Given the description of an element on the screen output the (x, y) to click on. 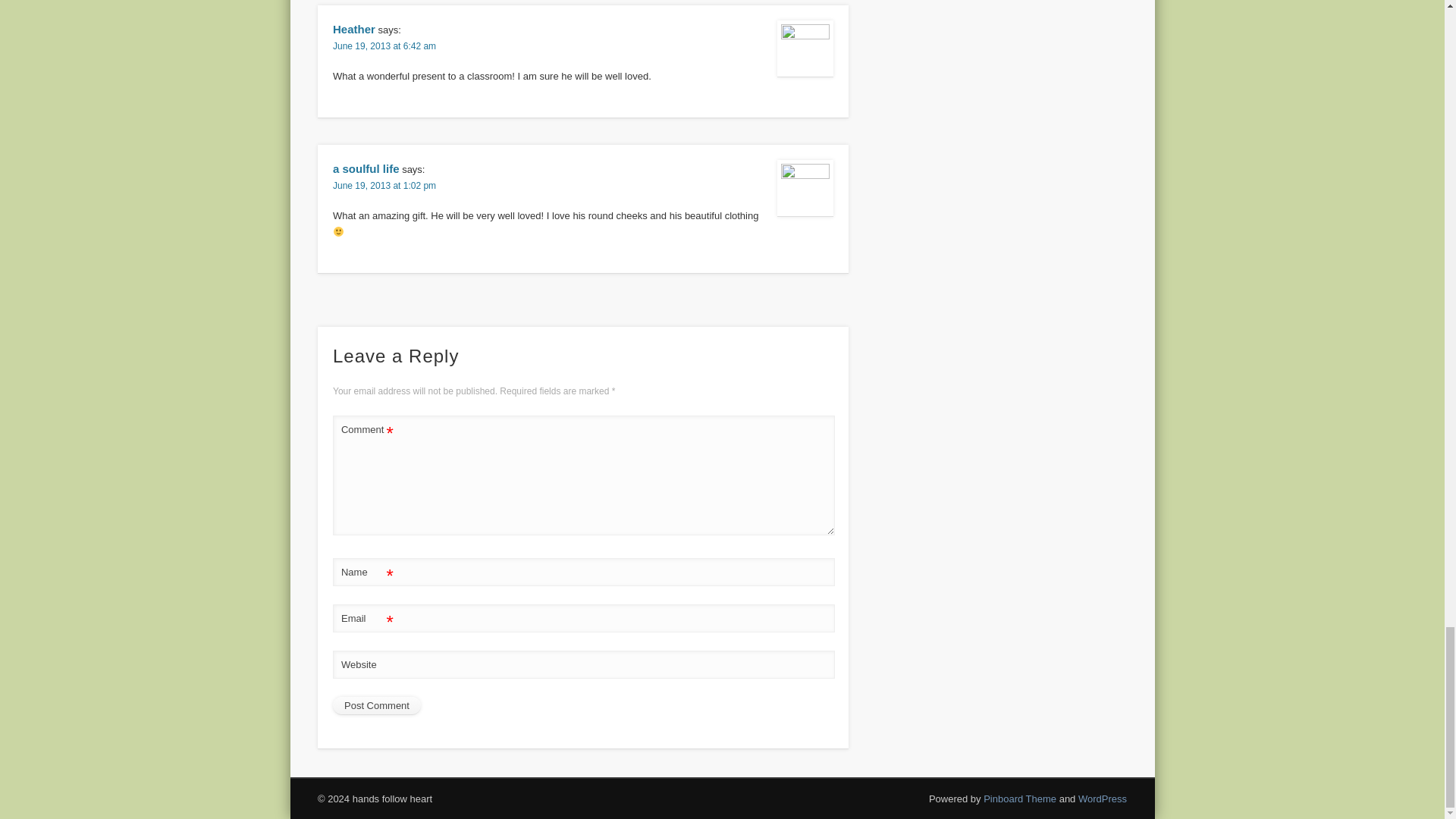
WordPress (1102, 798)
Post Comment (376, 705)
June 19, 2013 at 6:42 am (384, 45)
Pinboard Theme (1020, 798)
a soulful life (365, 168)
Post Comment (376, 705)
Heather (354, 29)
June 19, 2013 at 1:02 pm (384, 185)
